Given the description of an element on the screen output the (x, y) to click on. 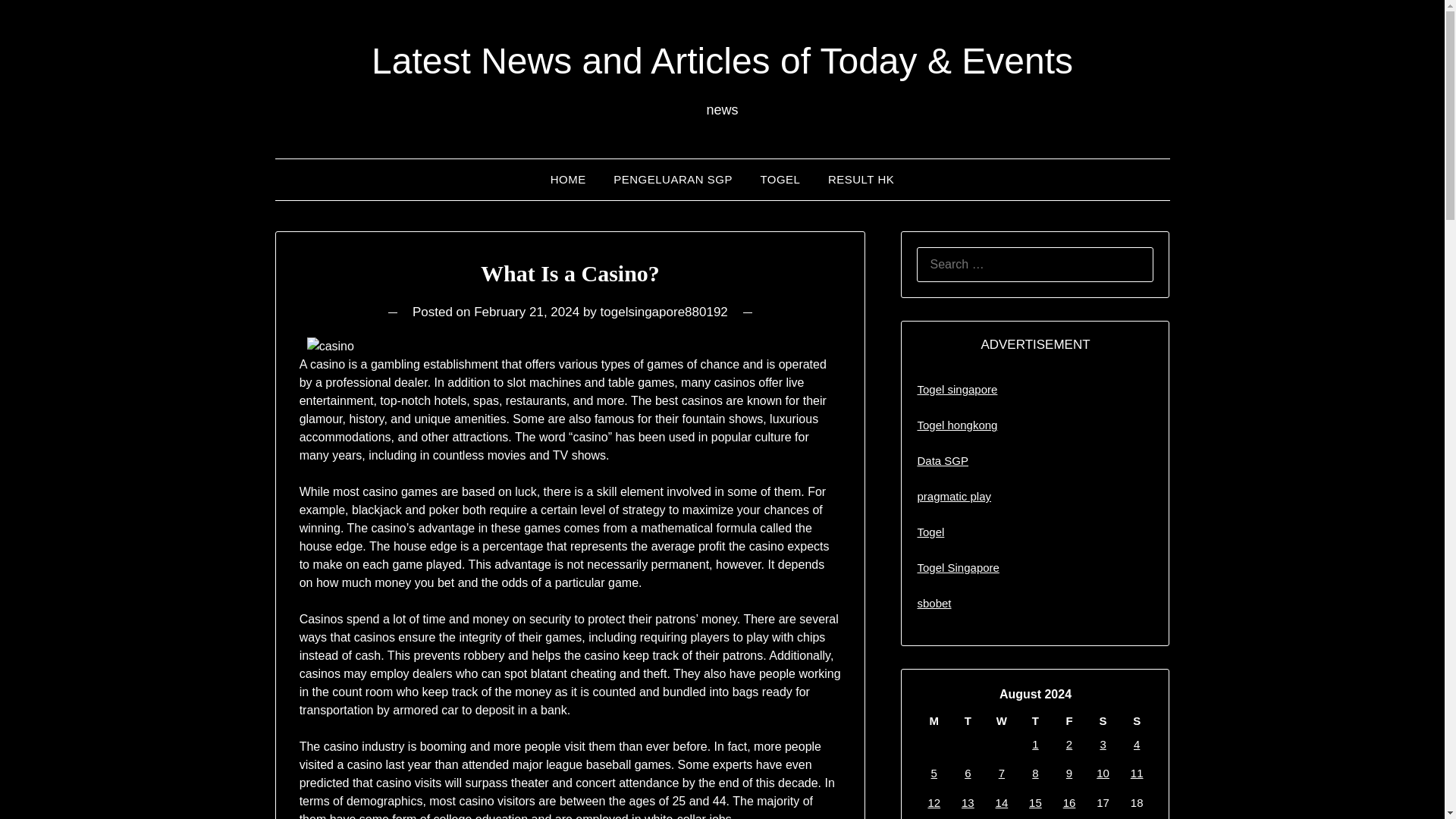
pragmatic play (954, 495)
Sunday (1136, 720)
Togel (930, 531)
Wednesday (1002, 720)
Data SGP (942, 460)
sbobet (933, 603)
Search (38, 22)
PENGELUARAN SGP (672, 178)
Tuesday (967, 720)
Saturday (1102, 720)
